Given the description of an element on the screen output the (x, y) to click on. 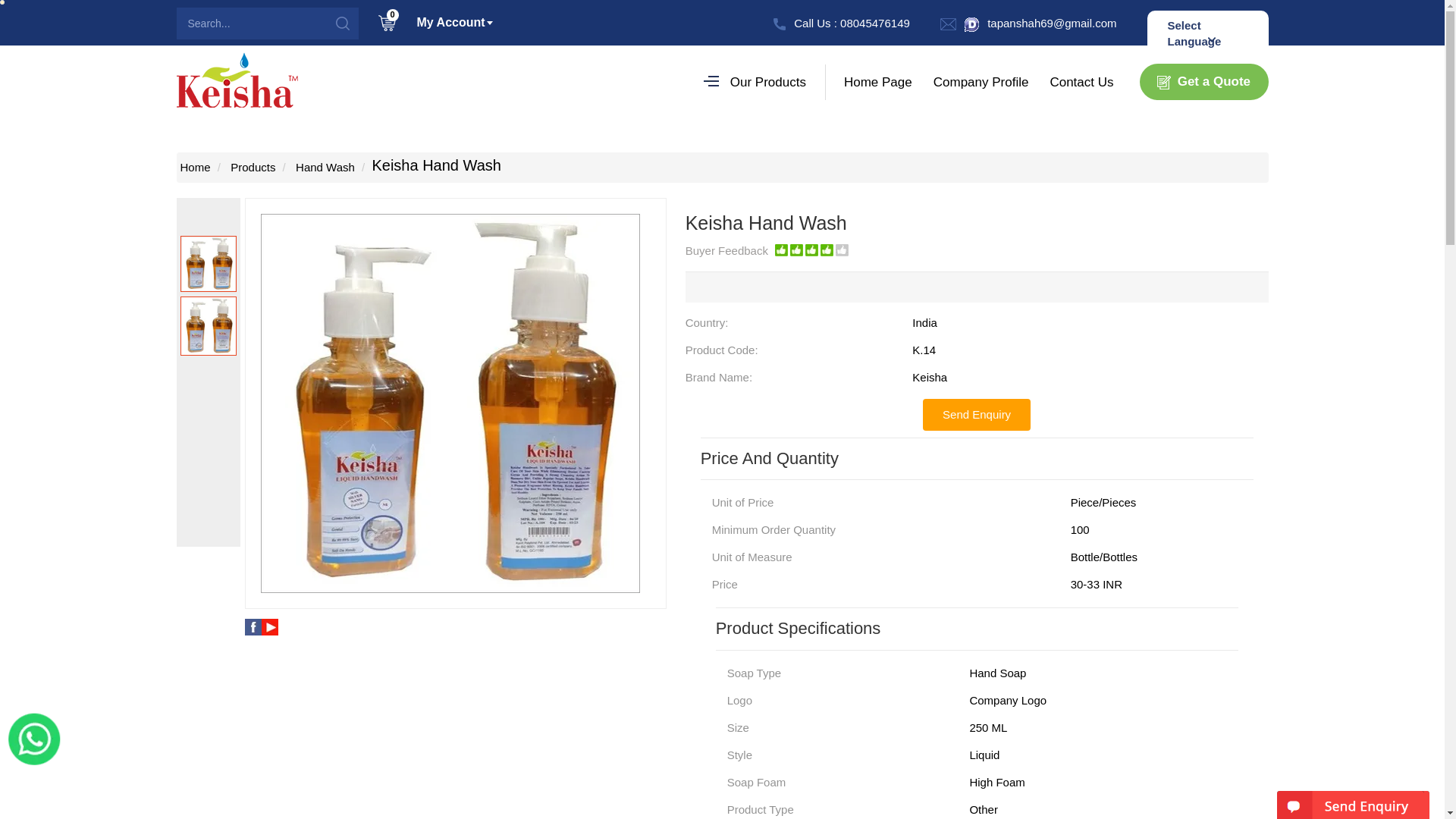
Our Products (756, 81)
Send Enquiry (976, 414)
Select Language (1207, 36)
Kavit Polybind Pvt. Ltd. (236, 79)
submit (342, 23)
Search... (239, 23)
Accepts only Domestic Inquiries (970, 24)
My Account (447, 18)
submit (342, 23)
